Given the description of an element on the screen output the (x, y) to click on. 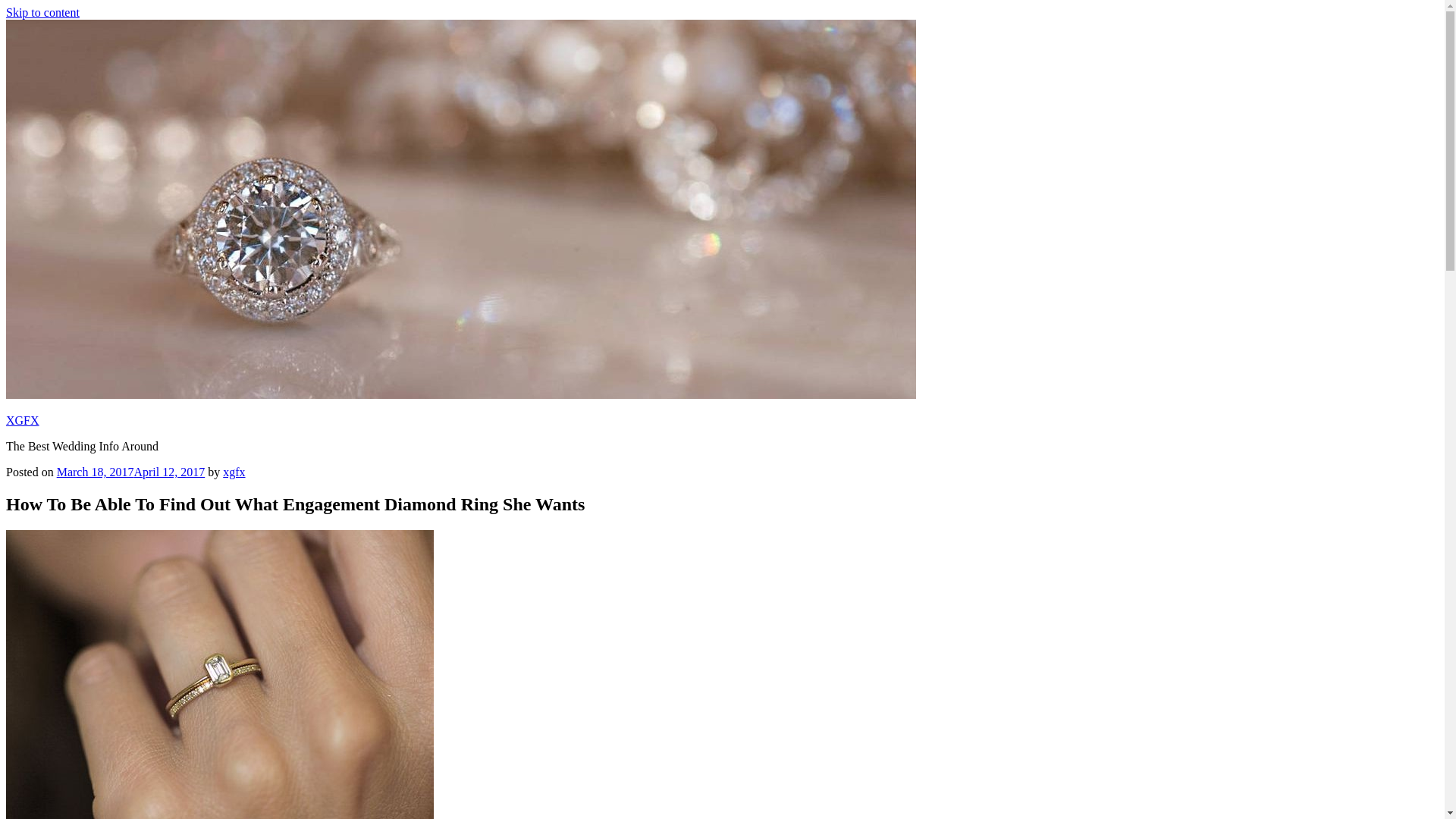
XGFX (22, 420)
xgfx (233, 472)
Skip to content (42, 11)
March 18, 2017April 12, 2017 (130, 472)
